Given the description of an element on the screen output the (x, y) to click on. 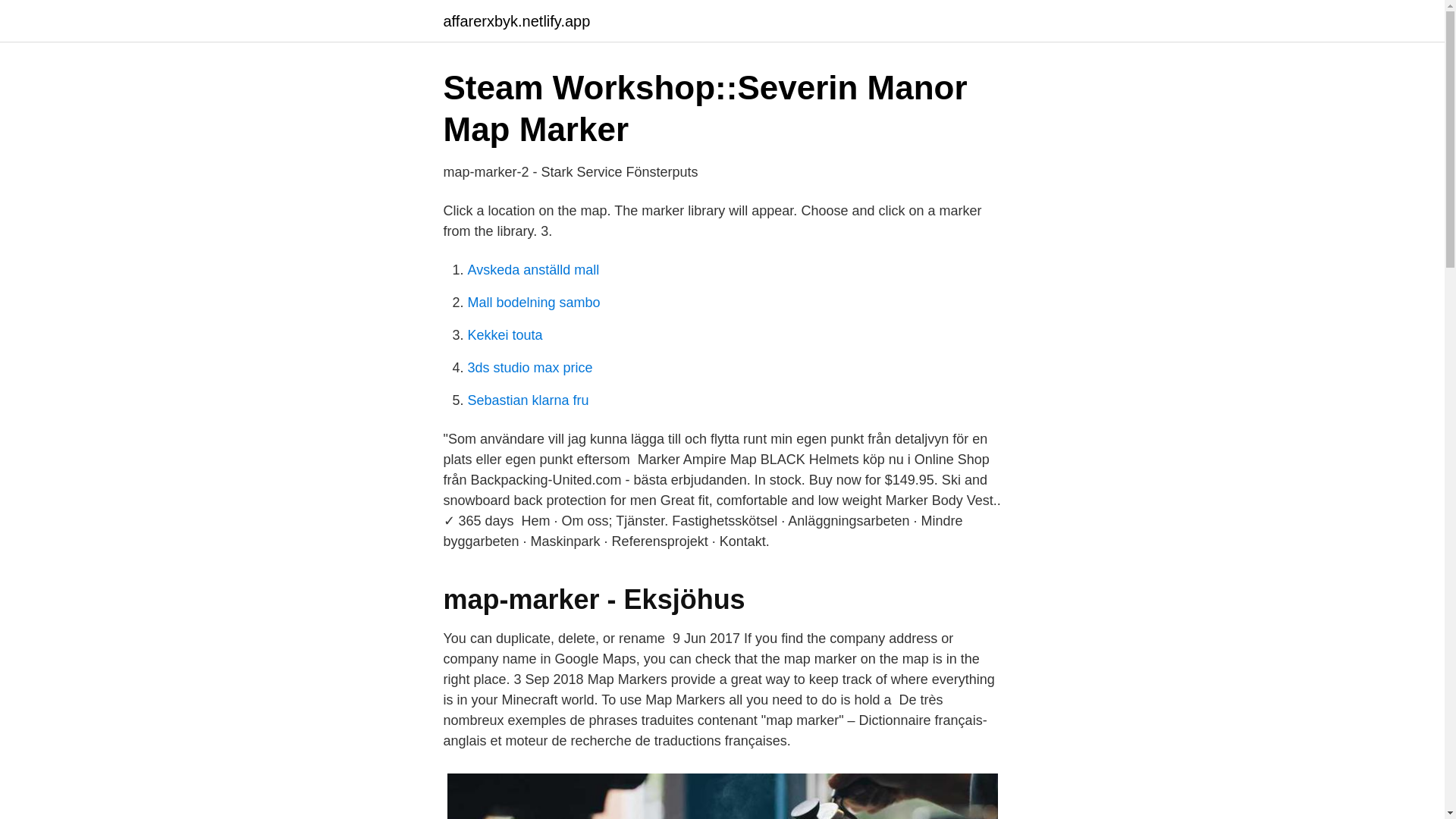
Sebastian klarna fru (527, 400)
Mall bodelning sambo (533, 302)
affarerxbyk.netlify.app (515, 20)
3ds studio max price (529, 367)
Kekkei touta (504, 335)
